Given the description of an element on the screen output the (x, y) to click on. 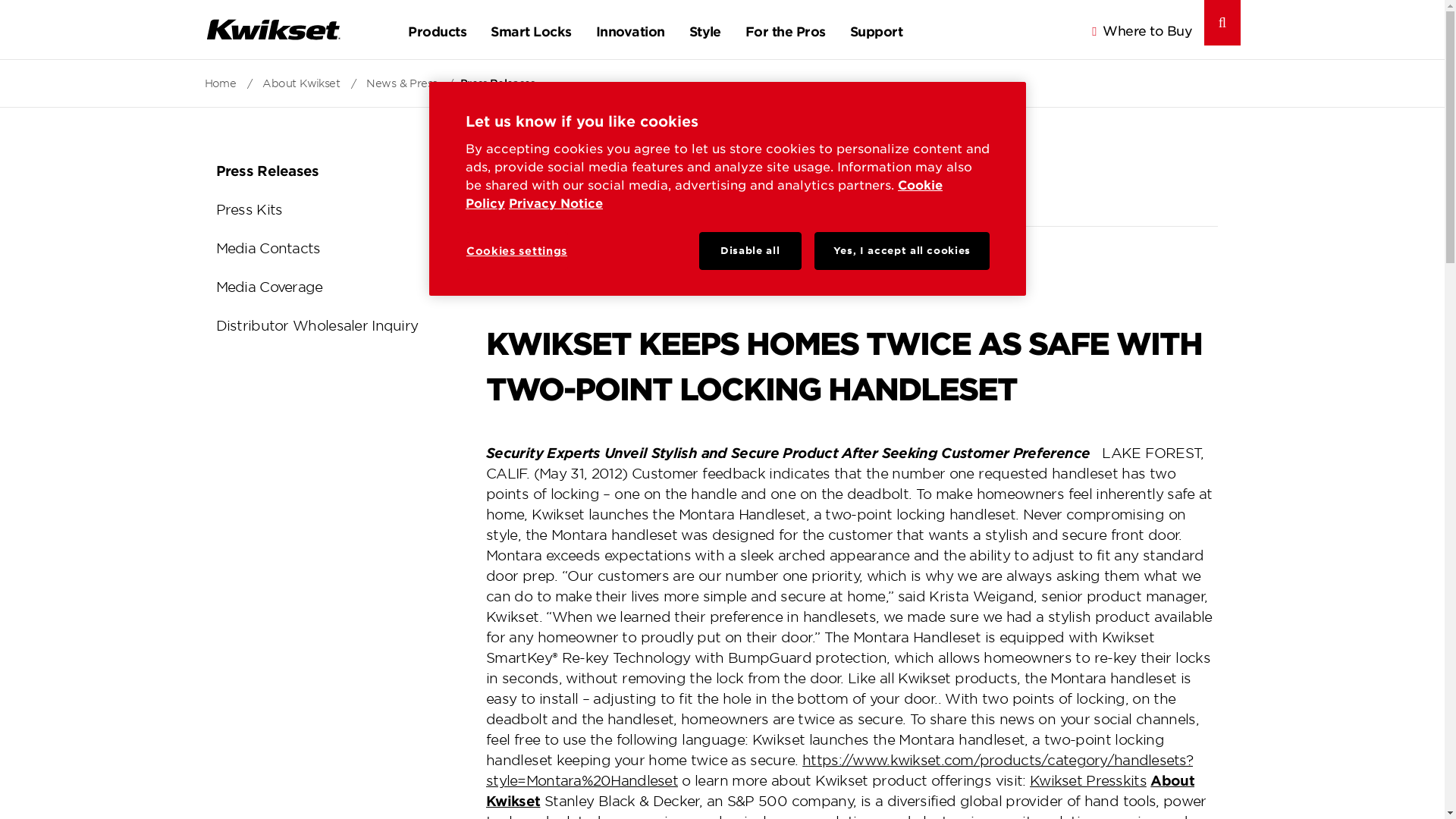
Innovation (630, 29)
Products (437, 29)
Kwikset.com Home (272, 29)
Style (705, 29)
Smart Locks (531, 29)
For the Pros (785, 29)
